Given the description of an element on the screen output the (x, y) to click on. 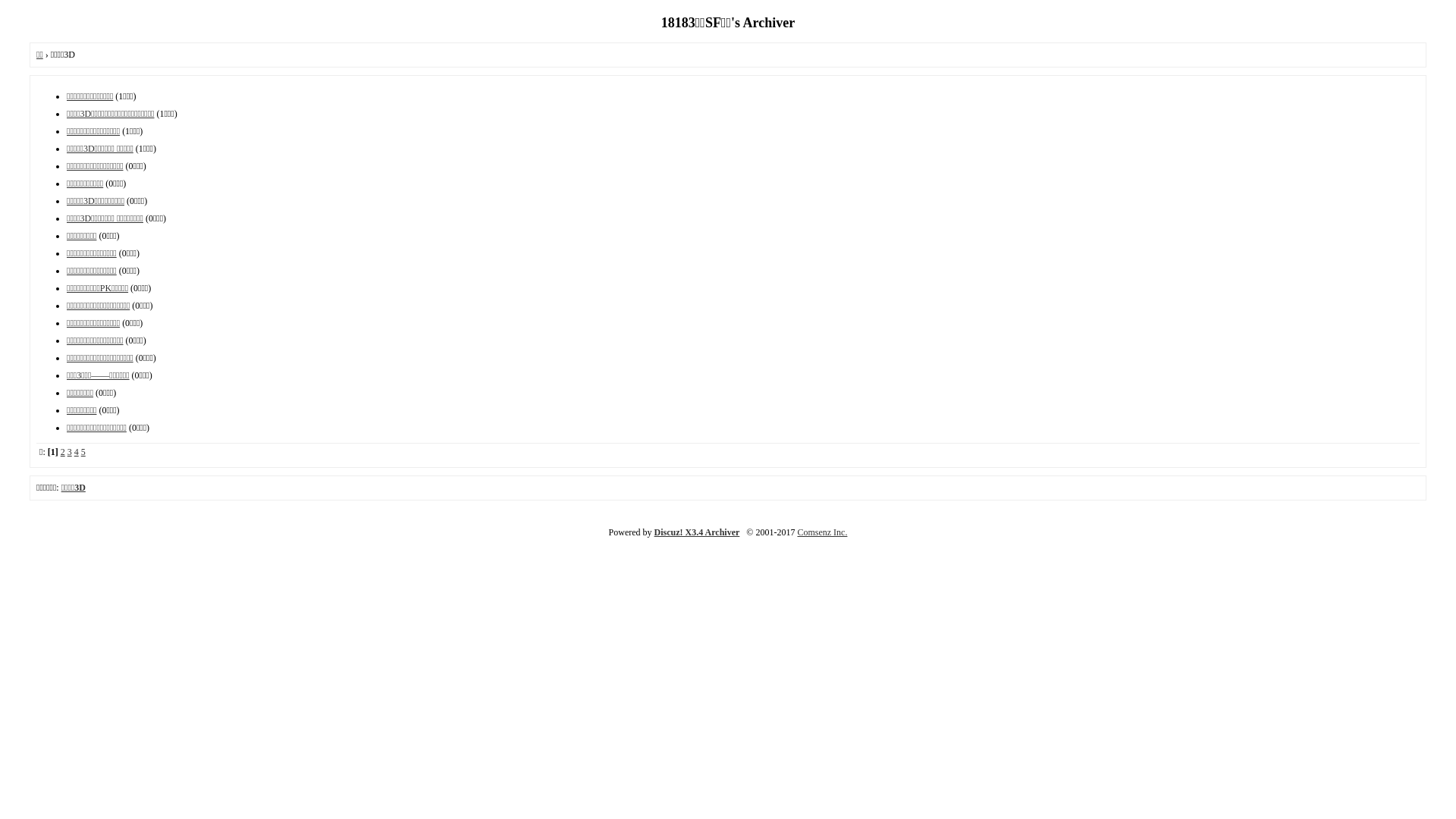
Discuz! X3.4 Archiver Element type: text (697, 532)
5 Element type: text (83, 451)
2 Element type: text (62, 451)
4 Element type: text (76, 451)
Comsenz Inc. Element type: text (822, 532)
3 Element type: text (69, 451)
